Given the description of an element on the screen output the (x, y) to click on. 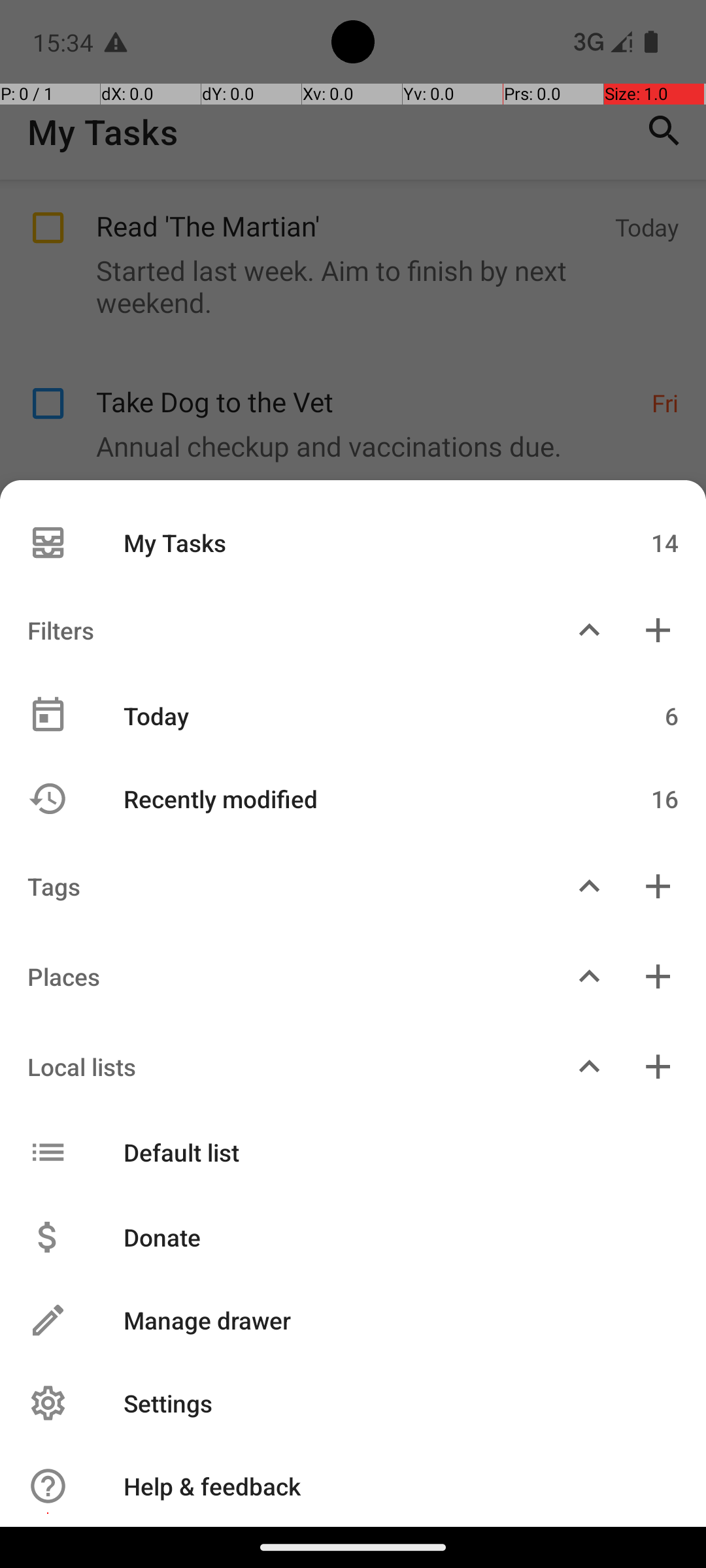
Filters Element type: android.widget.TextView (277, 630)
Recently modified Element type: android.widget.CheckedTextView (344, 798)
Tags Element type: android.widget.TextView (277, 886)
Places Element type: android.widget.TextView (277, 976)
Local lists Element type: android.widget.TextView (277, 1066)
Manage drawer Element type: android.widget.TextView (387, 1319)
